Given the description of an element on the screen output the (x, y) to click on. 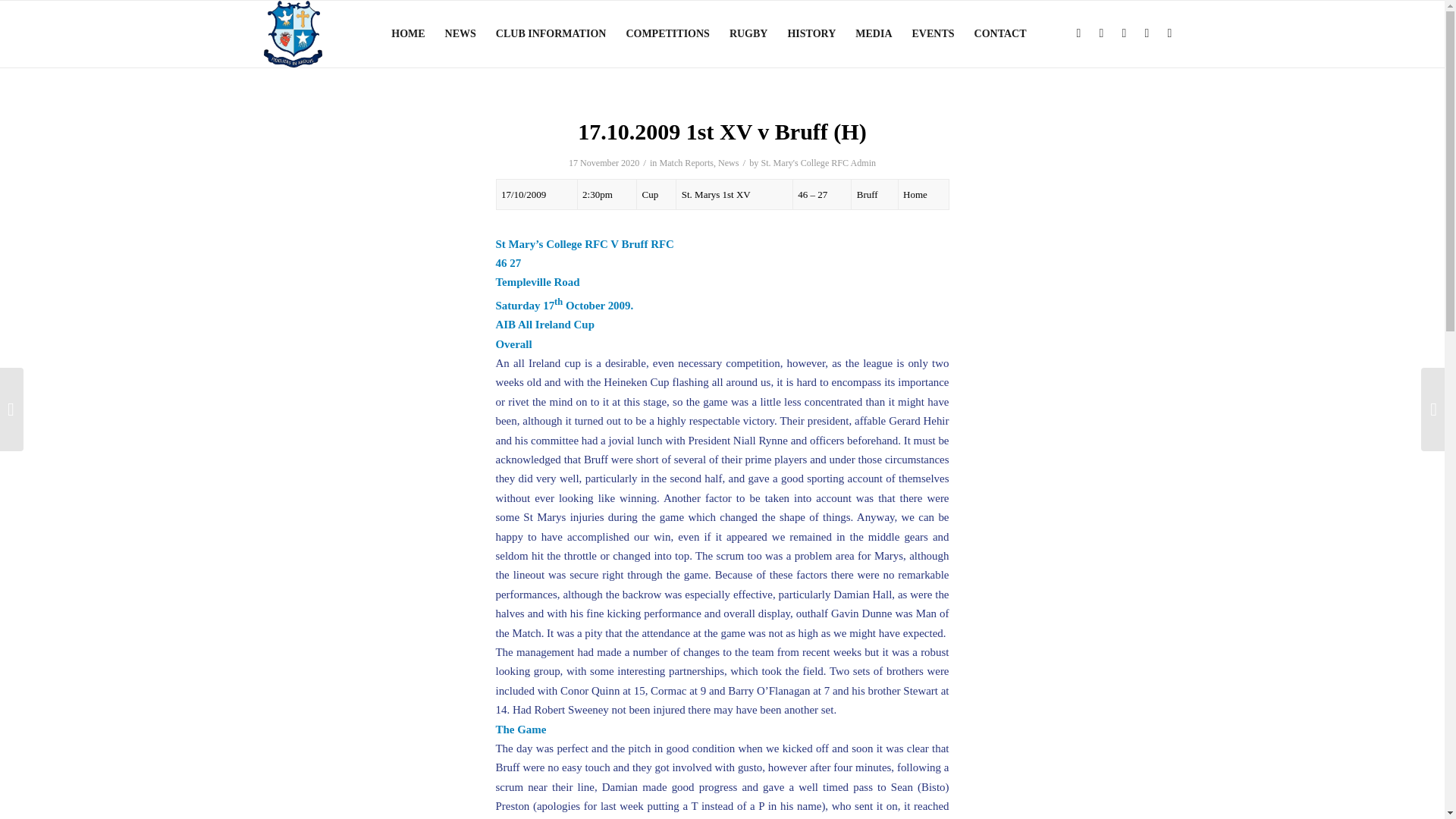
Instagram (1146, 33)
Twitter (1124, 33)
LinkedIn (1101, 33)
Youtube (1169, 33)
Facebook (1078, 33)
HISTORY (811, 33)
COMPETITIONS (667, 33)
Posts by St. Mary's College RFC Admin (818, 163)
CLUB INFORMATION (550, 33)
